Given the description of an element on the screen output the (x, y) to click on. 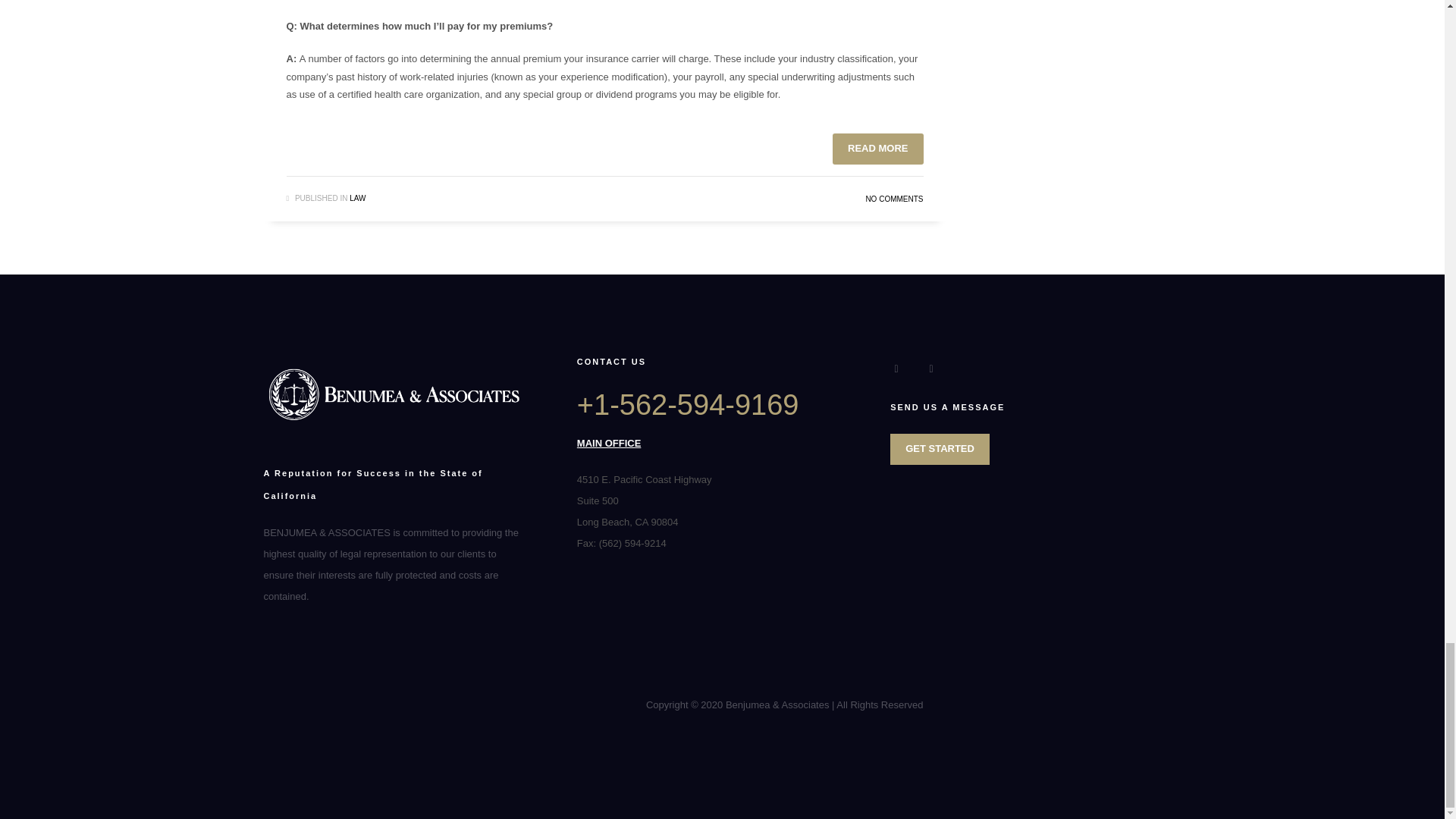
LAW (357, 198)
READ MORE (877, 148)
NO COMMENTS (893, 198)
